Given the description of an element on the screen output the (x, y) to click on. 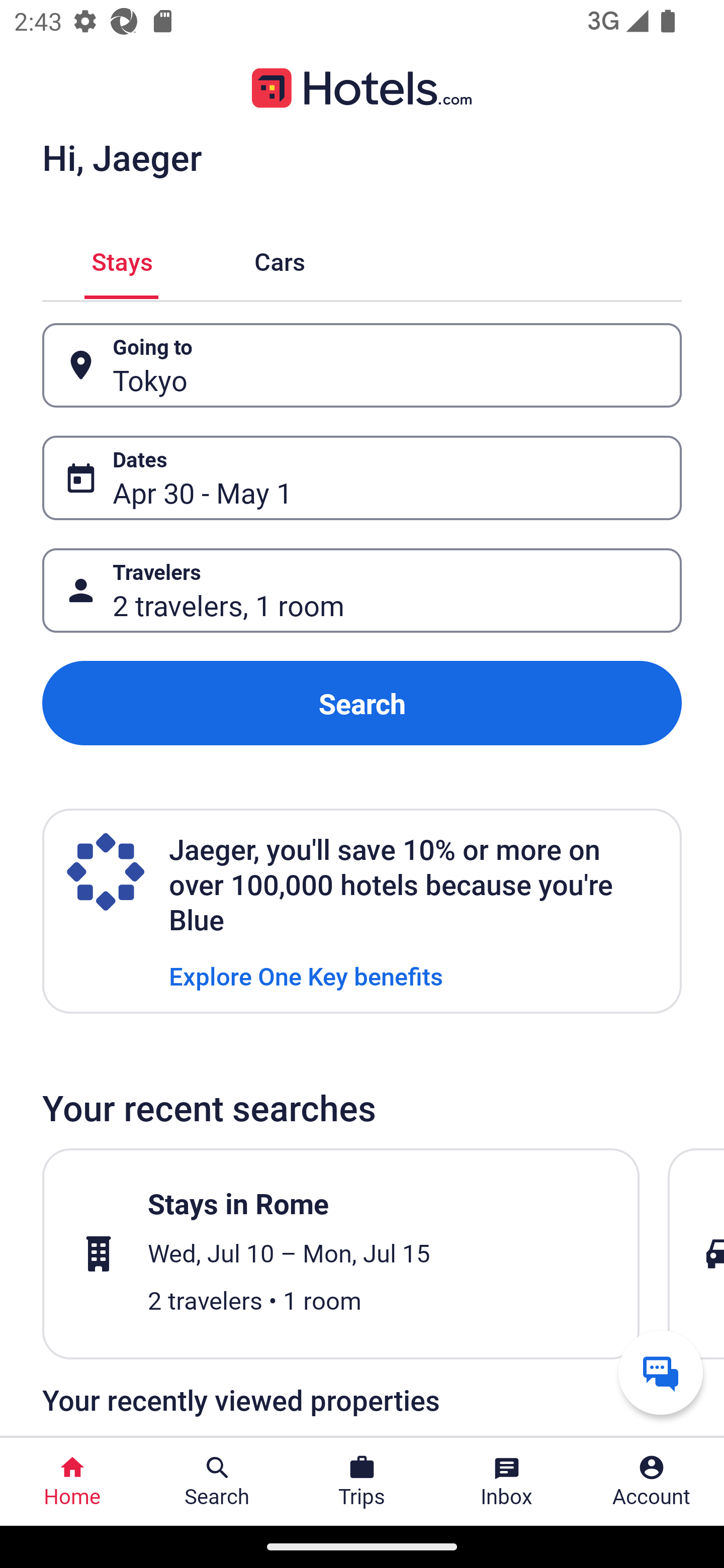
Hi, Jaeger (121, 156)
Cars (279, 259)
Going to Button Tokyo (361, 365)
Dates Button Apr 30 - May 1 (361, 477)
Travelers Button 2 travelers, 1 room (361, 590)
Search (361, 702)
Get help from a virtual agent (660, 1371)
Search Search Button (216, 1481)
Trips Trips Button (361, 1481)
Inbox Inbox Button (506, 1481)
Account Profile. Button (651, 1481)
